Given the description of an element on the screen output the (x, y) to click on. 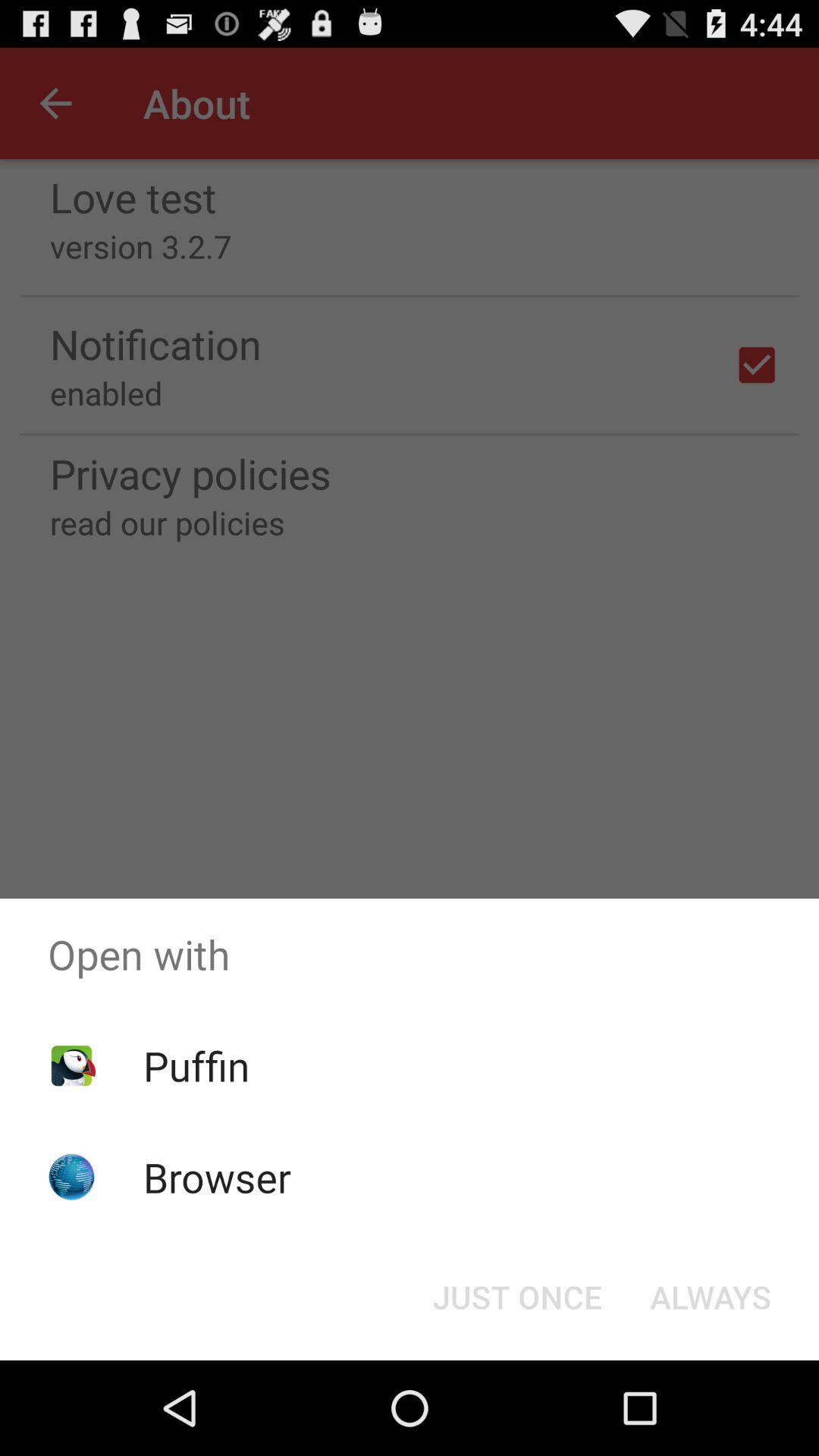
choose the just once item (517, 1296)
